Given the description of an element on the screen output the (x, y) to click on. 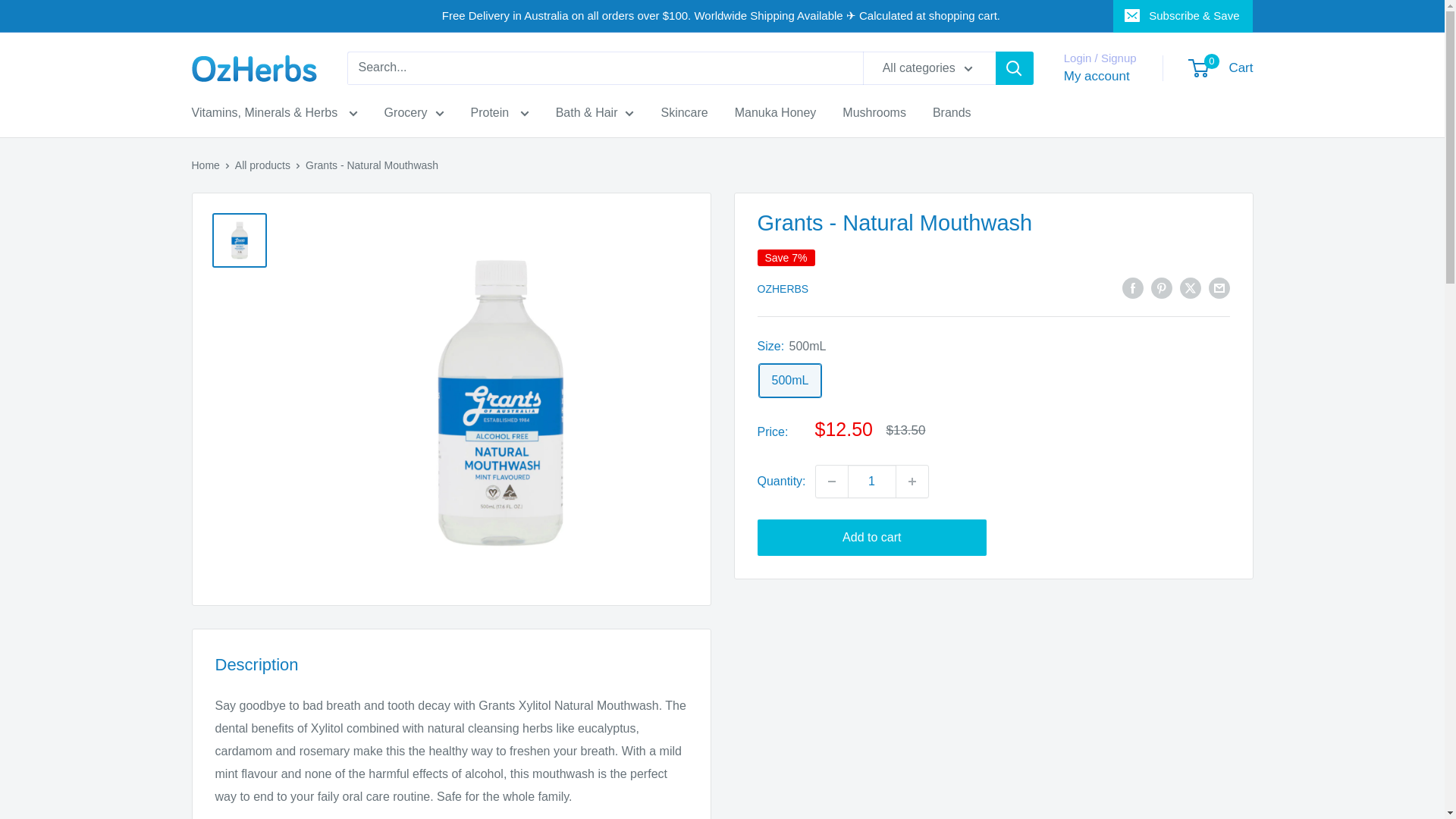
1 (871, 481)
Increase quantity by 1 (912, 481)
Decrease quantity by 1 (831, 481)
500mL (789, 380)
